Given the description of an element on the screen output the (x, y) to click on. 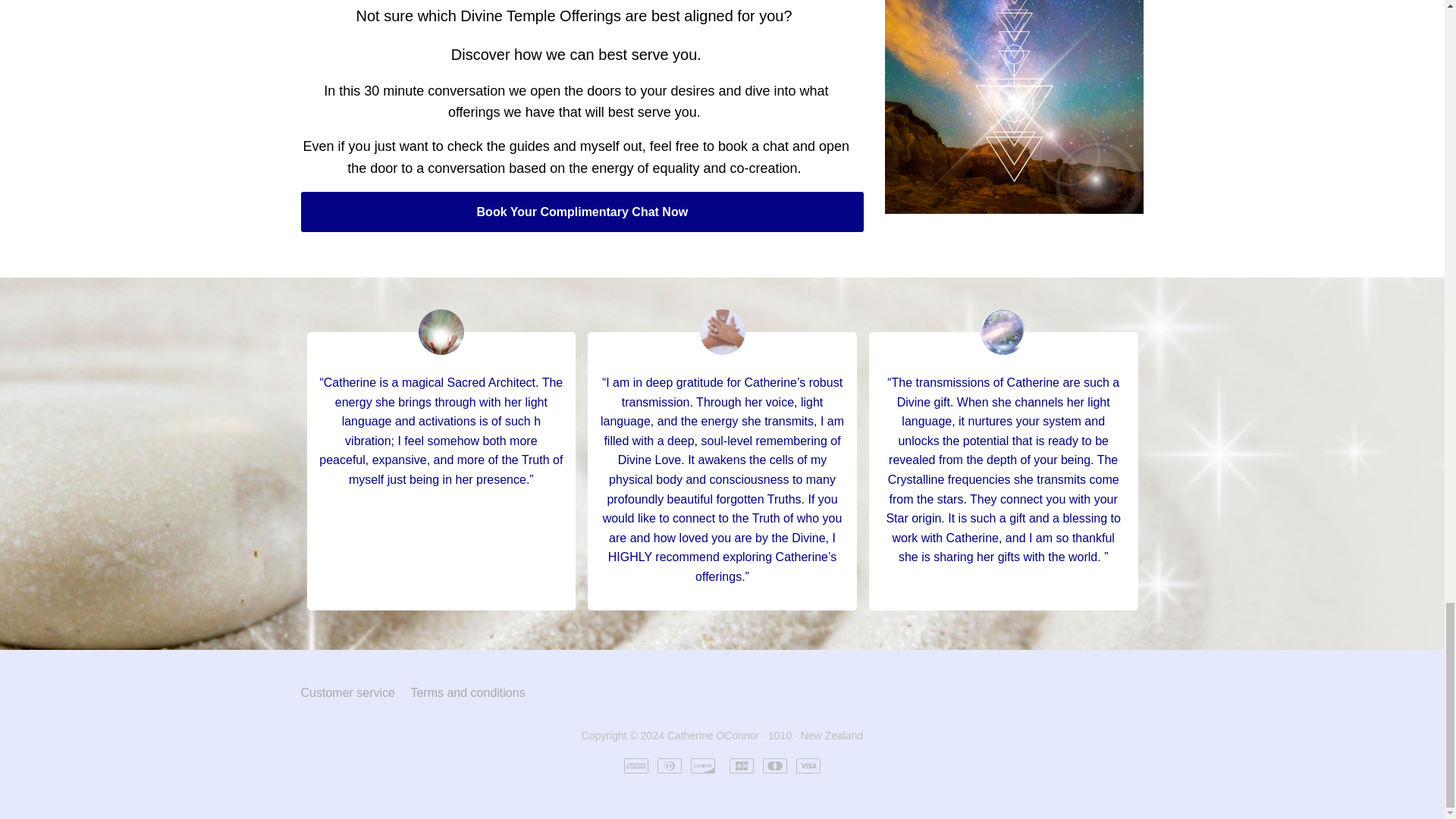
Customer service (346, 692)
Terms and conditions (467, 692)
Book Your Complimentary Chat Now (581, 211)
